Given the description of an element on the screen output the (x, y) to click on. 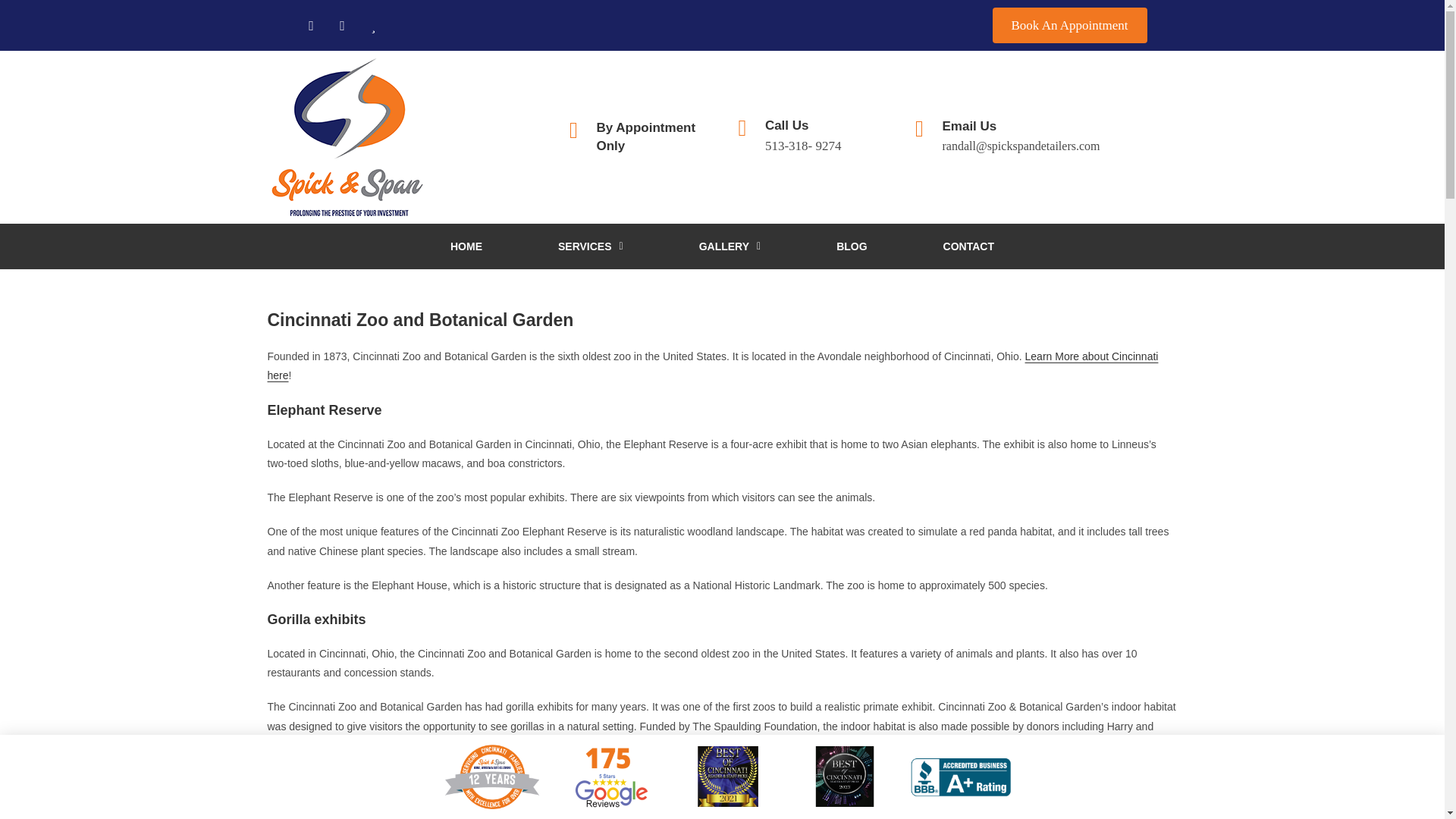
Book An Appointment (1069, 25)
12yrs Excellence (495, 776)
HOME (465, 245)
GALLERY (730, 245)
SERVICES (590, 245)
Google Reviews (645, 136)
BLOG (611, 776)
CONTACT (850, 245)
Email Us (968, 245)
